Given the description of an element on the screen output the (x, y) to click on. 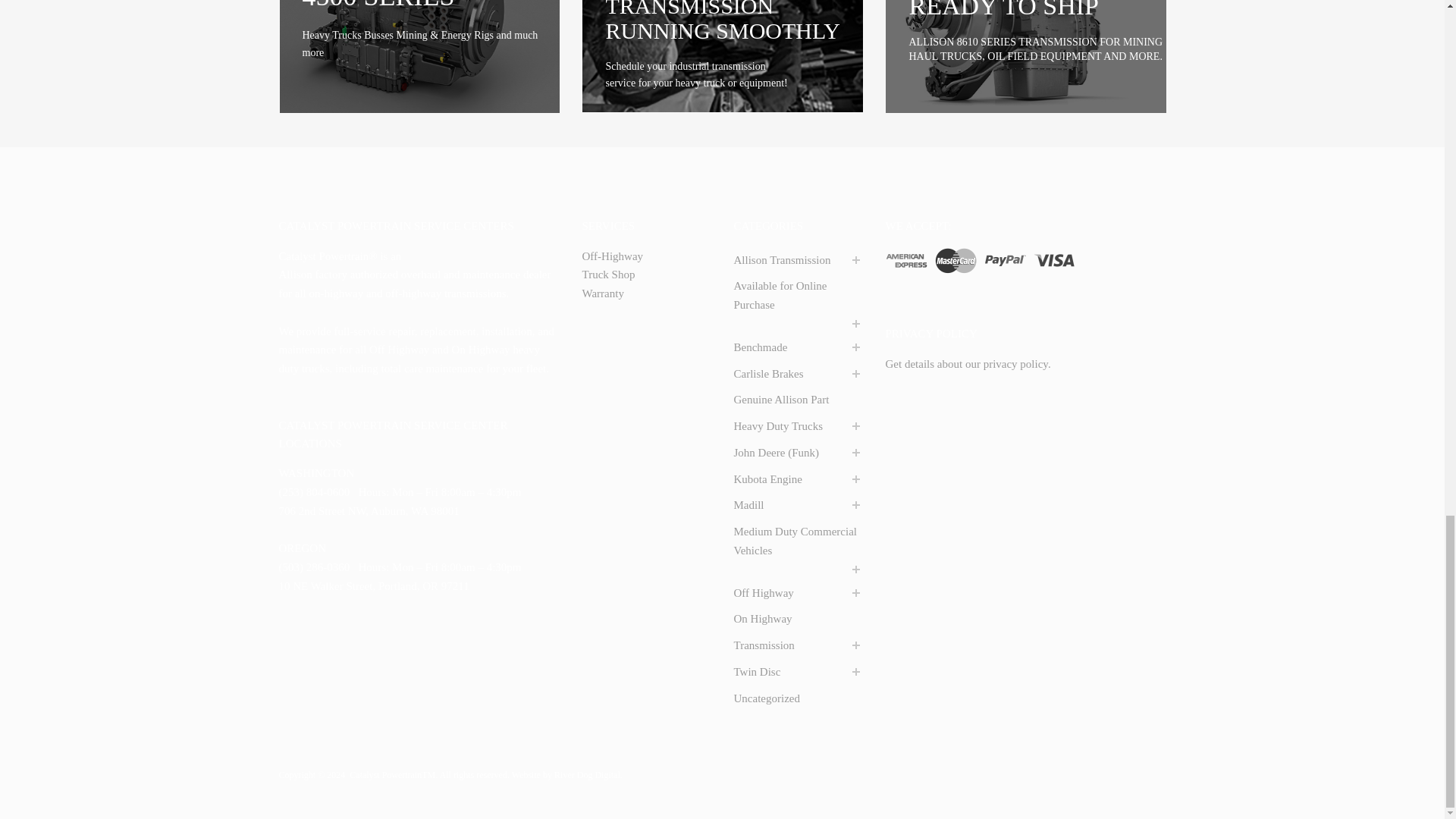
Warranty (603, 293)
Allison Transmission (782, 260)
Off-Highway (612, 256)
Truck Shop (608, 274)
